Given the description of an element on the screen output the (x, y) to click on. 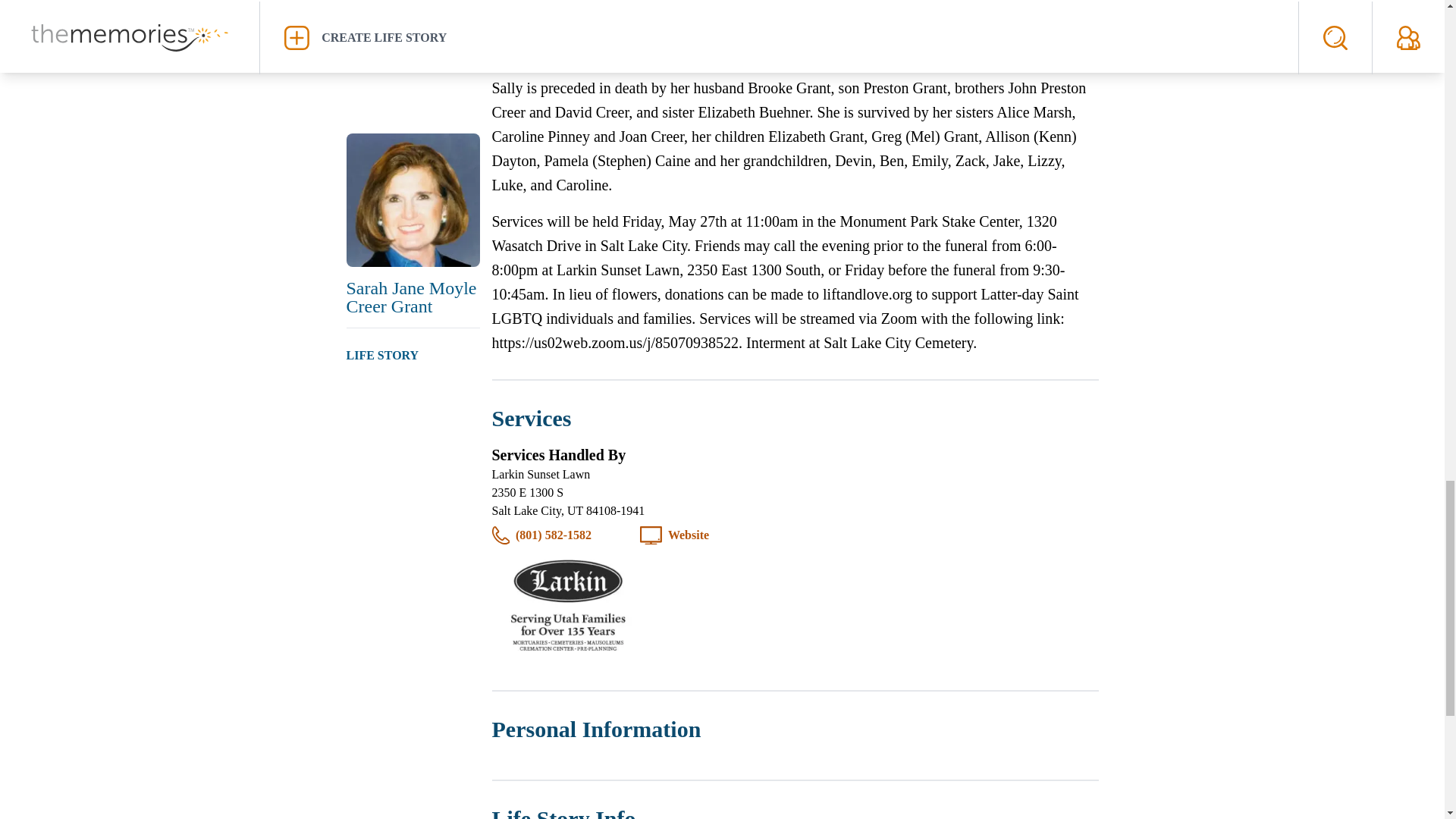
Website (688, 535)
